Given the description of an element on the screen output the (x, y) to click on. 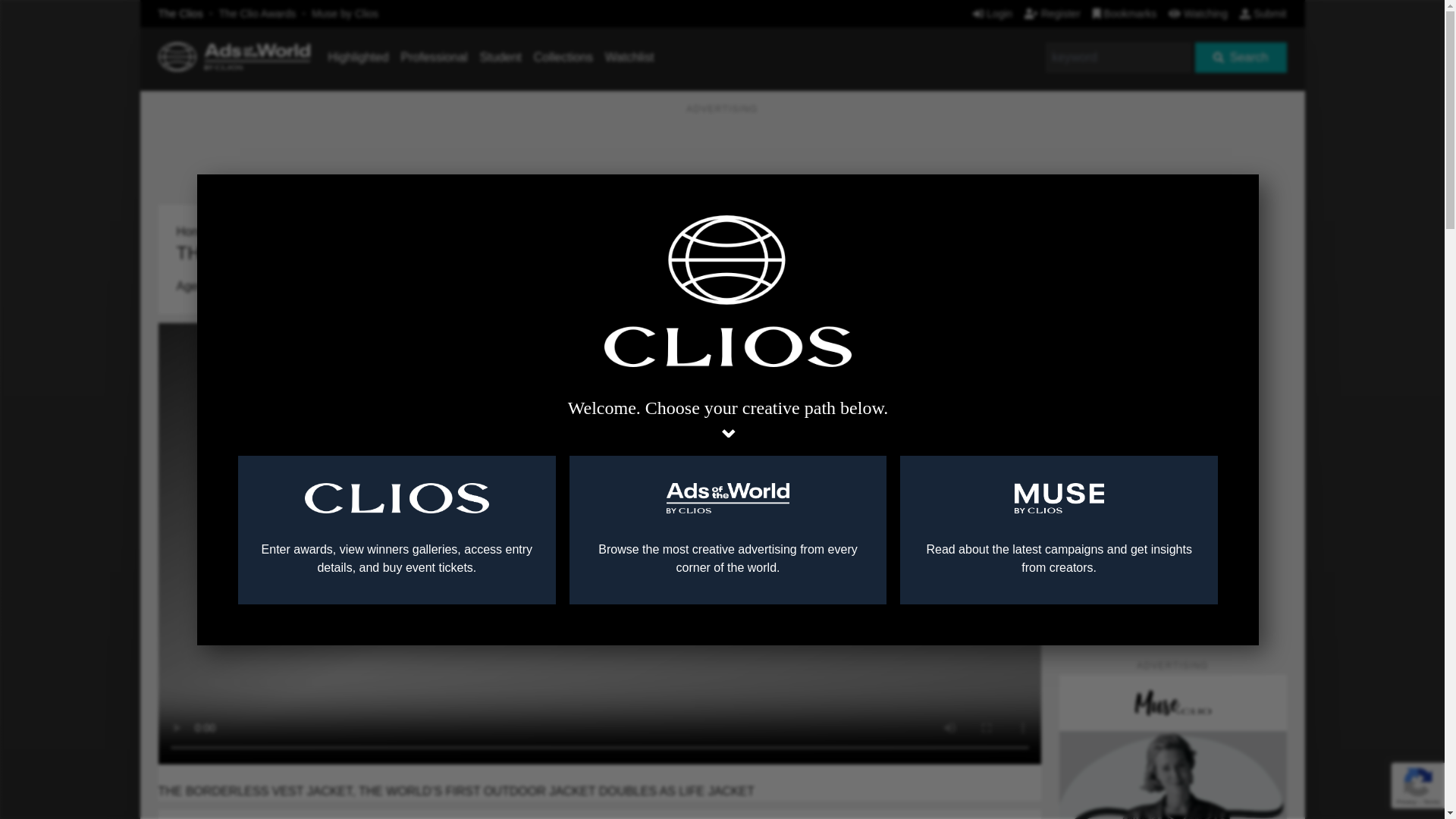
Login (991, 13)
Muse by Clios (344, 13)
Student (500, 56)
Login to Bookmark (1018, 209)
Bookmarks (1125, 13)
Search (1241, 57)
Watching (1198, 13)
Professional (434, 56)
Collections (563, 56)
Register (1052, 13)
Watching (1198, 13)
Bookmarks (1125, 13)
Highlighted (357, 56)
The Clio Awards (258, 13)
Submit (1263, 13)
